Given the description of an element on the screen output the (x, y) to click on. 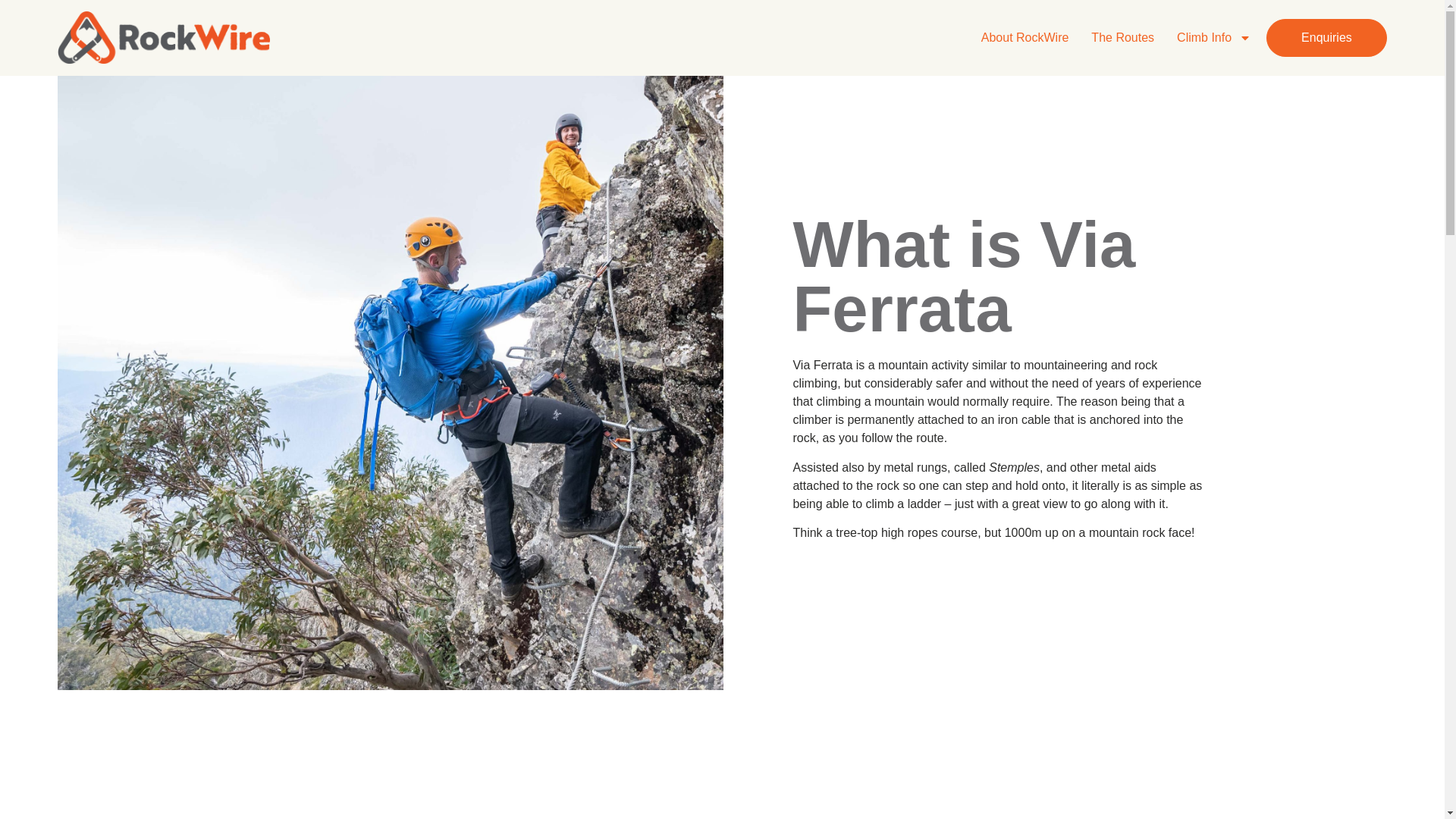
The Routes (1122, 37)
Enquiries (1326, 37)
About RockWire (1024, 37)
Climb Info (1213, 37)
